Given the description of an element on the screen output the (x, y) to click on. 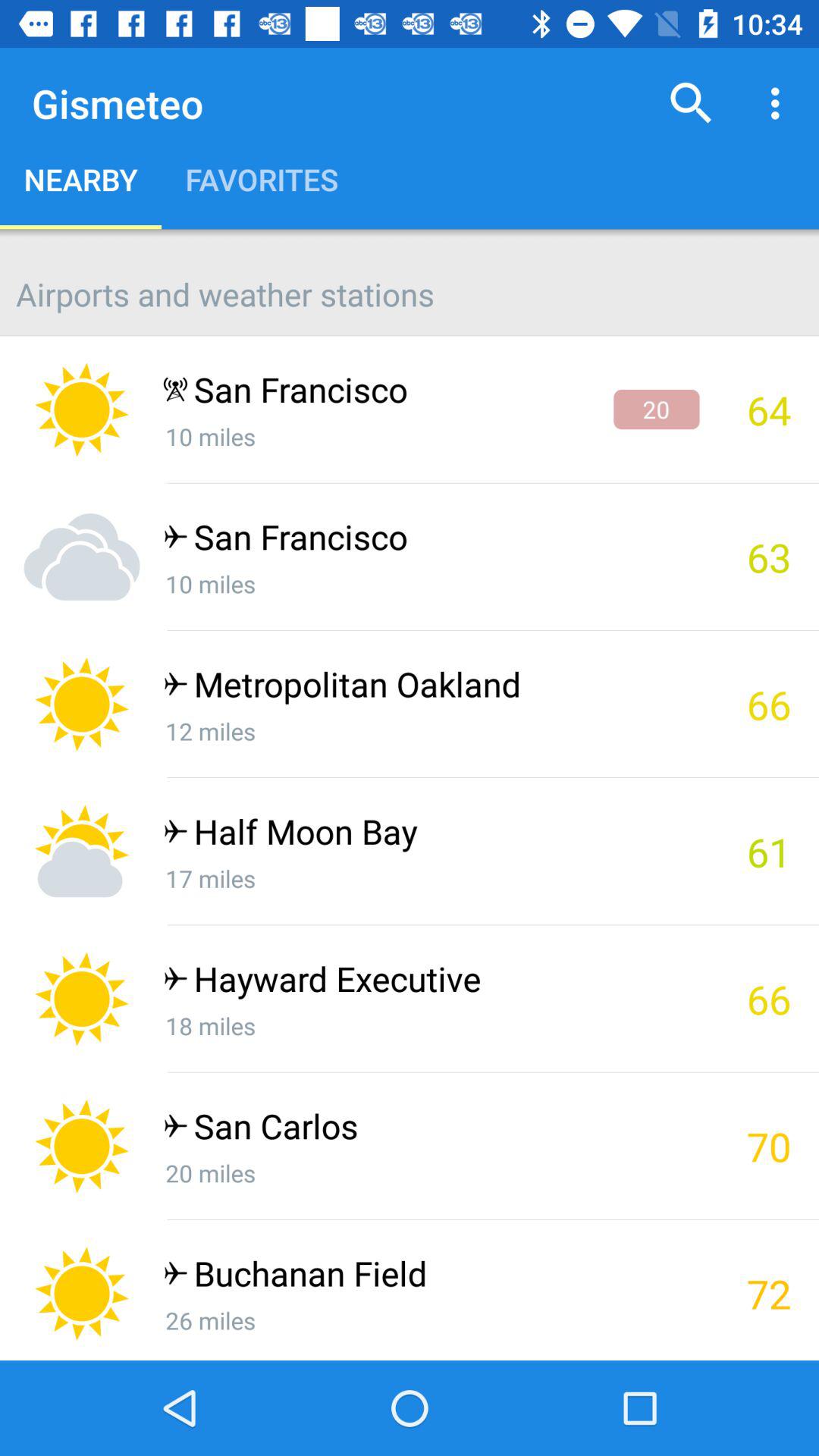
swipe to the 63 (759, 556)
